Given the description of an element on the screen output the (x, y) to click on. 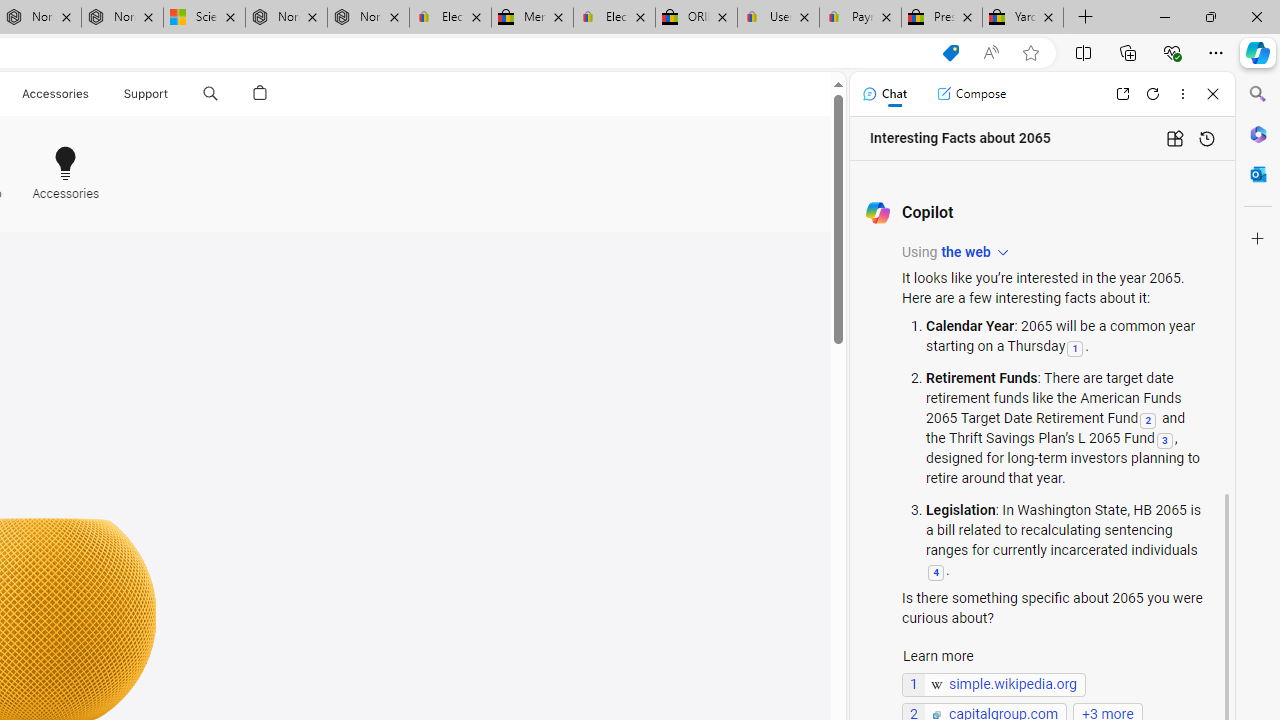
Class: globalnav-item globalnav-search shift-0-1 (210, 93)
Payments Terms of Use | eBay.com (860, 17)
Outlook (1258, 174)
Chat (884, 93)
Support (146, 93)
Accessories (59, 162)
Nordace - Summer Adventures 2024 (285, 17)
Accessories menu (91, 93)
Search apple.com (210, 93)
